Given the description of an element on the screen output the (x, y) to click on. 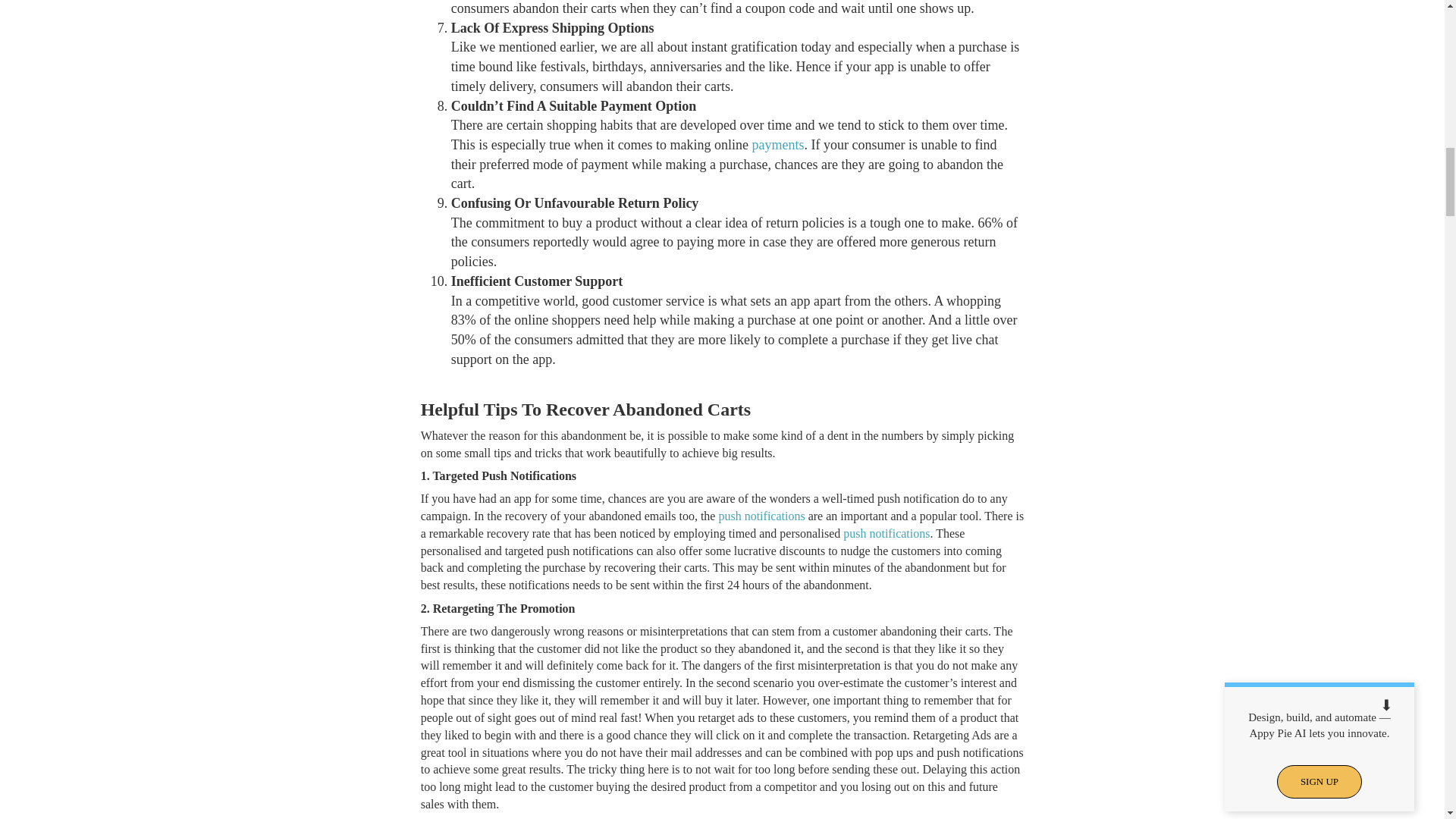
push notifications (886, 533)
payments (778, 144)
push notifications (761, 515)
